Given the description of an element on the screen output the (x, y) to click on. 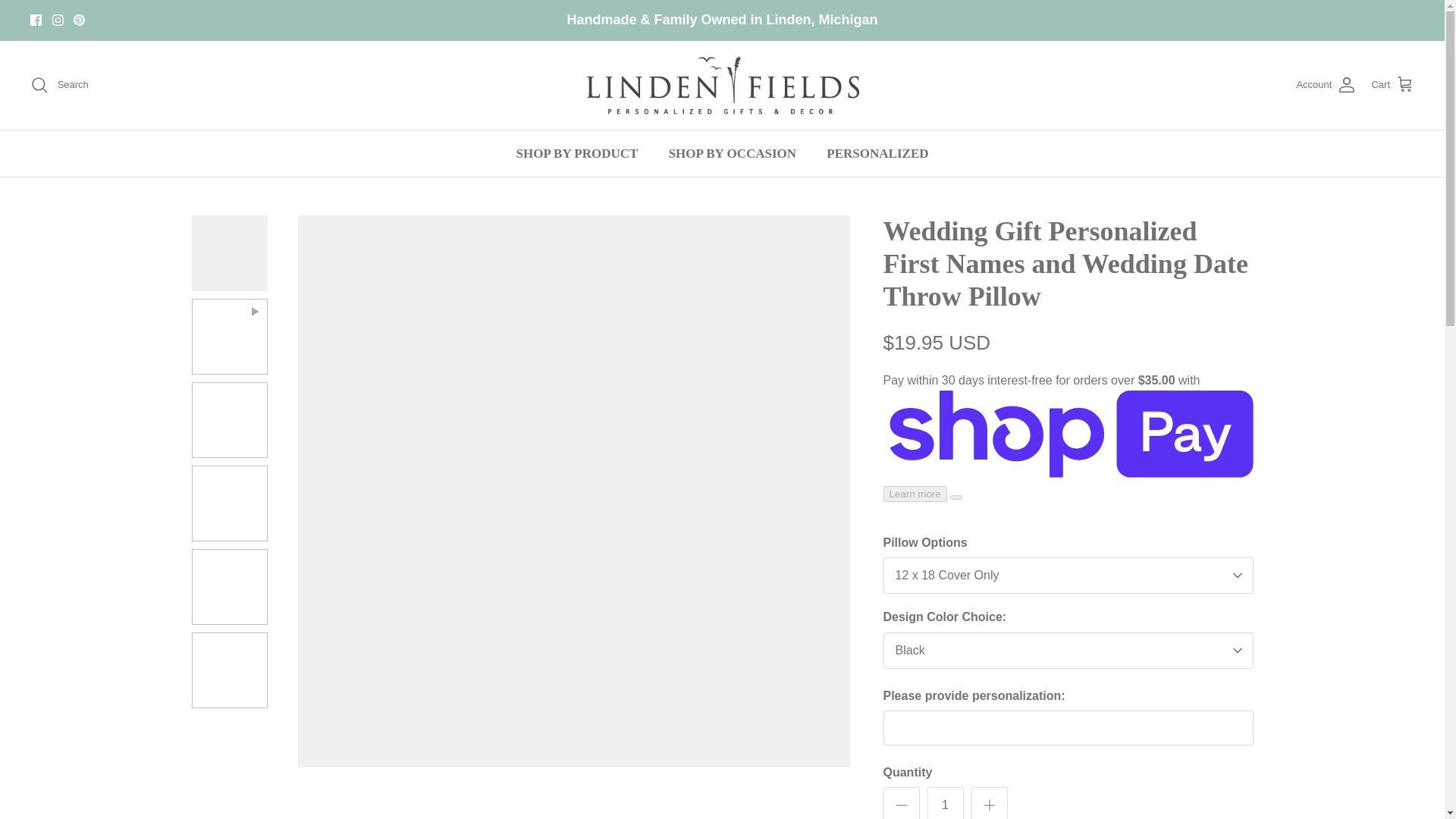
SHOP BY OCCASION (732, 153)
Search (59, 85)
SHOP BY PRODUCT (576, 153)
Facebook (36, 19)
Facebook (36, 19)
Pinterest (79, 19)
Instagram (58, 19)
Account (1325, 85)
1 (944, 803)
Instagram (58, 19)
Plus (988, 805)
Minus (900, 805)
Linden Fields (722, 85)
Pinterest (79, 19)
Cart (1392, 85)
